Given the description of an element on the screen output the (x, y) to click on. 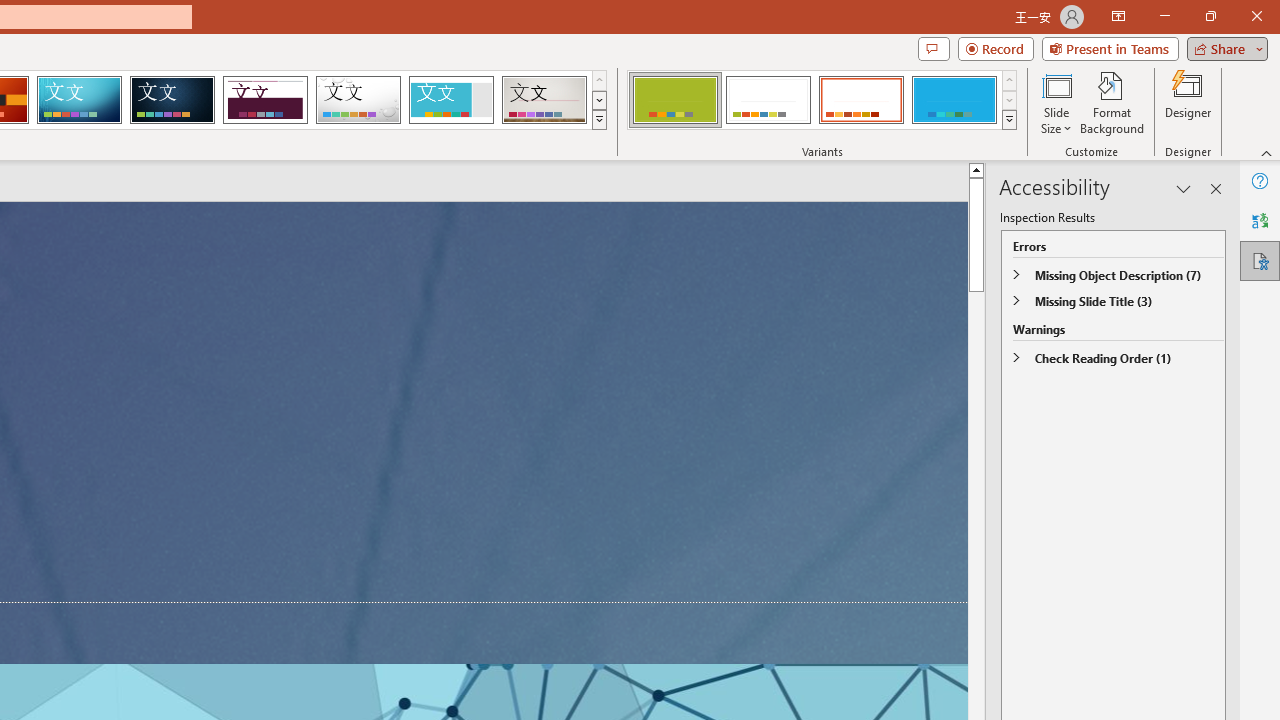
AutomationID: ThemeVariantsGallery (822, 99)
Basis Variant 1 (674, 100)
Circuit (79, 100)
Droplet (358, 100)
Gallery (544, 100)
